Given the description of an element on the screen output the (x, y) to click on. 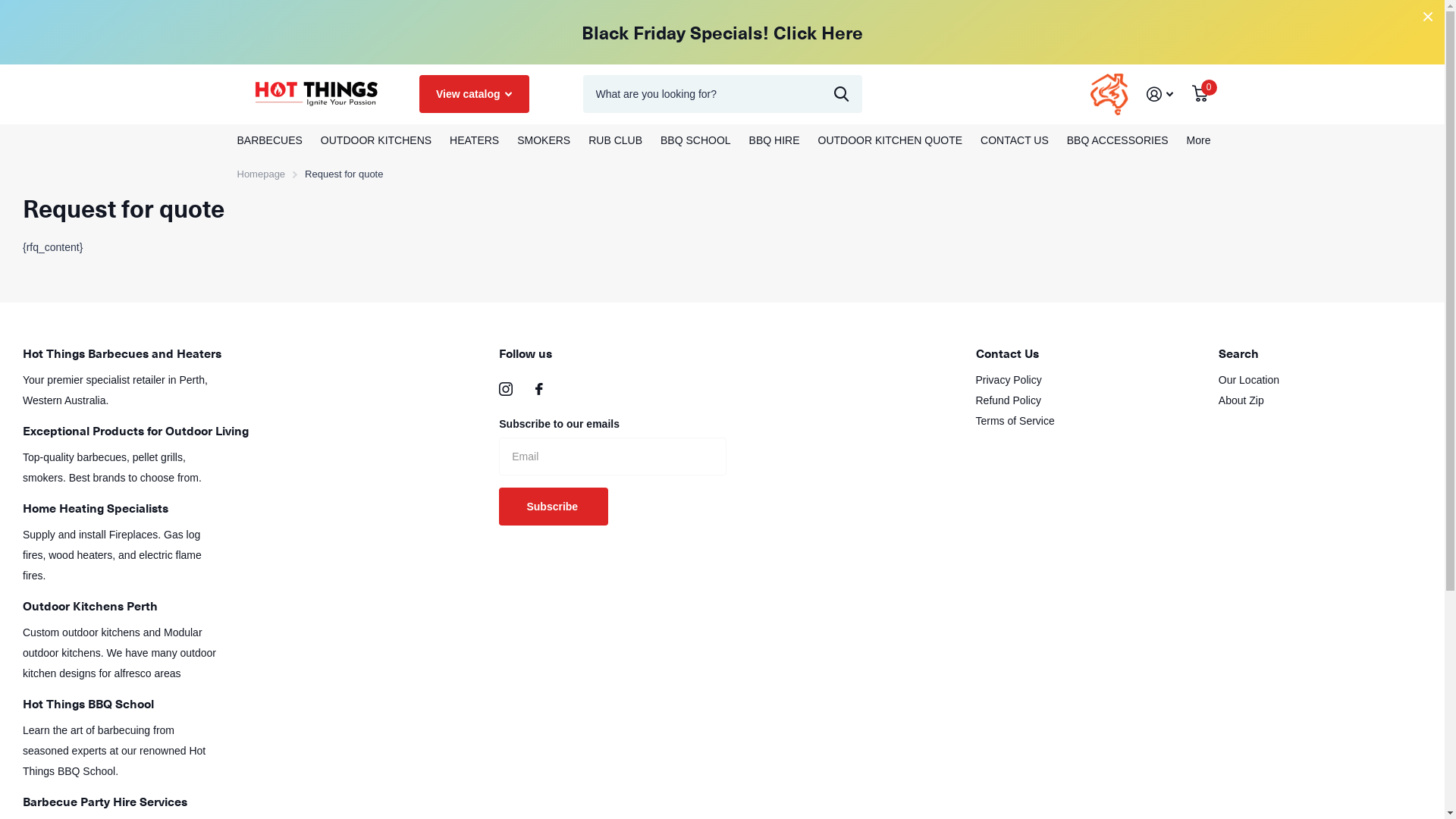
CONTACT US Element type: text (1014, 140)
Black Friday Specials! Click Here Element type: text (721, 31)
Terms of Service Element type: text (1014, 420)
Subscribe  Element type: text (553, 506)
Privacy Policy Element type: text (1008, 379)
View catalog Element type: text (473, 93)
RUB CLUB Element type: text (615, 140)
Refund Policy Element type: text (1007, 400)
Homepage Element type: text (260, 173)
OUTDOOR KITCHENS Element type: text (375, 140)
Zoeken Element type: text (841, 93)
BARBECUES Element type: text (268, 140)
Our Location Element type: text (1248, 379)
Contact Us Element type: text (1006, 352)
0 Element type: text (1200, 93)
BBQ SCHOOL Element type: text (695, 140)
Close Element type: text (1427, 16)
OUTDOOR KITCHEN QUOTE Element type: text (889, 140)
BBQ ACCESSORIES Element type: text (1117, 140)
About Zip Element type: text (1241, 400)
BBQ HIRE Element type: text (774, 140)
More Element type: text (1198, 140)
HEATERS Element type: text (473, 140)
SMOKERS Element type: text (543, 140)
Search Element type: text (1238, 352)
